Given the description of an element on the screen output the (x, y) to click on. 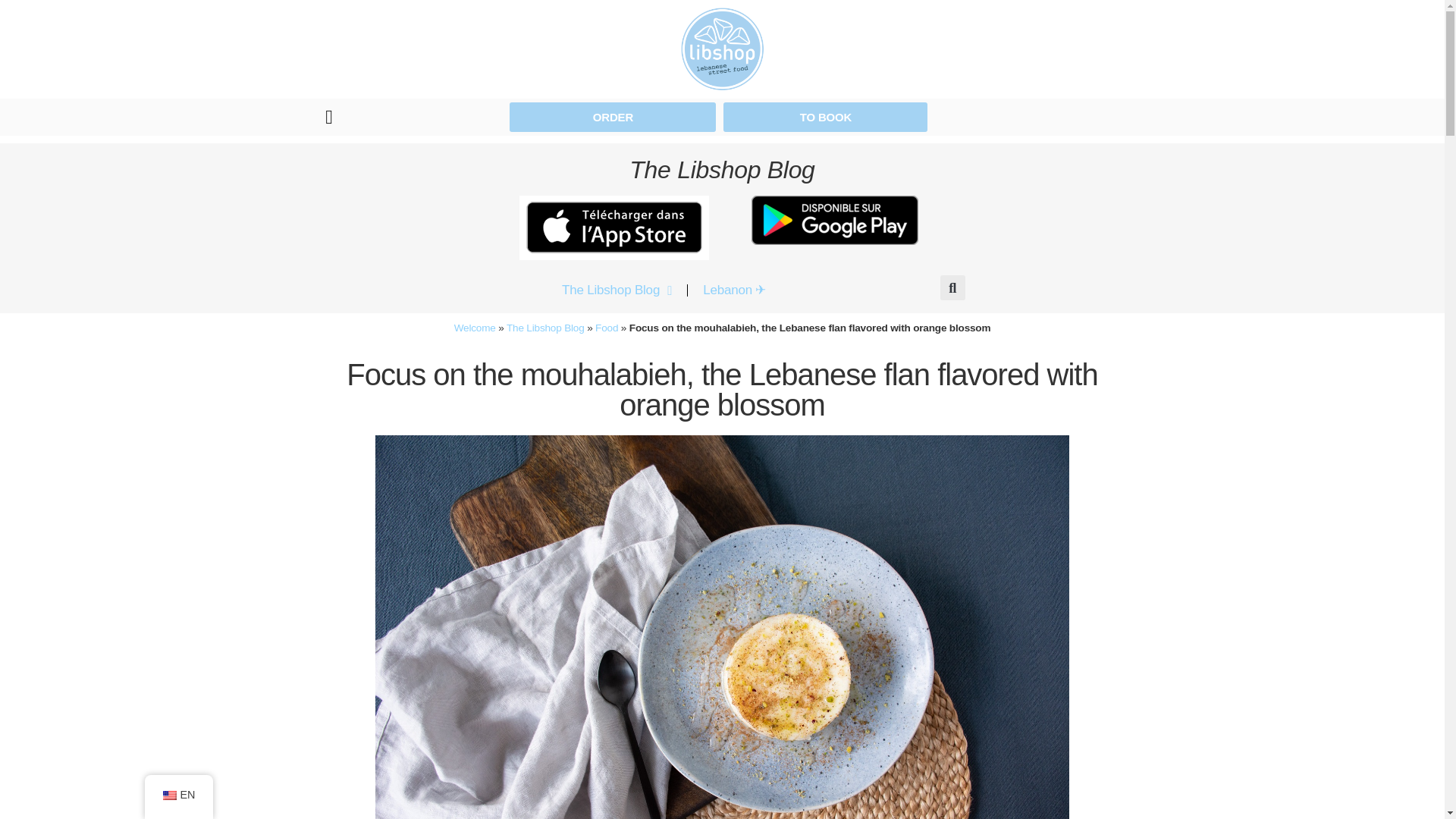
The Libshop Blog (617, 290)
TO BOOK (825, 116)
ORDER (612, 116)
English (168, 795)
Welcome (475, 327)
The Libshop Blog (545, 327)
Food (606, 327)
